Given the description of an element on the screen output the (x, y) to click on. 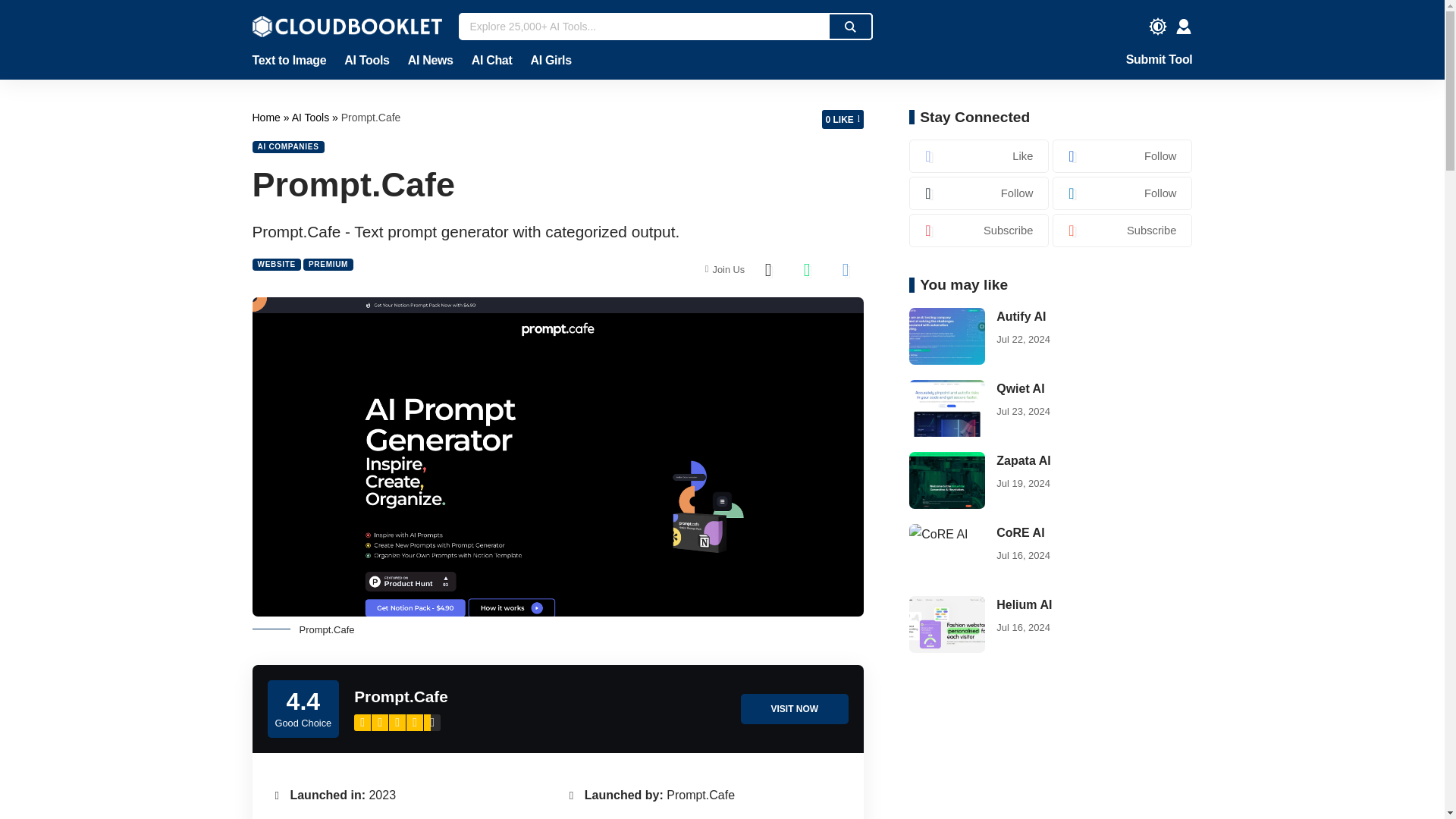
Text to Image (292, 60)
AI Tools (365, 60)
Cloudbooklet AI (346, 25)
Home (266, 117)
AI News (430, 60)
Submit Tool (1158, 60)
0 LIKE (843, 118)
Autify AI (946, 335)
AI Girls (545, 60)
AI COMPANIES (287, 146)
AI Tools (311, 117)
AI Tools (311, 117)
Qwiet AI (946, 408)
Cloudbooklet AI (266, 117)
AI Chat (492, 60)
